Given the description of an element on the screen output the (x, y) to click on. 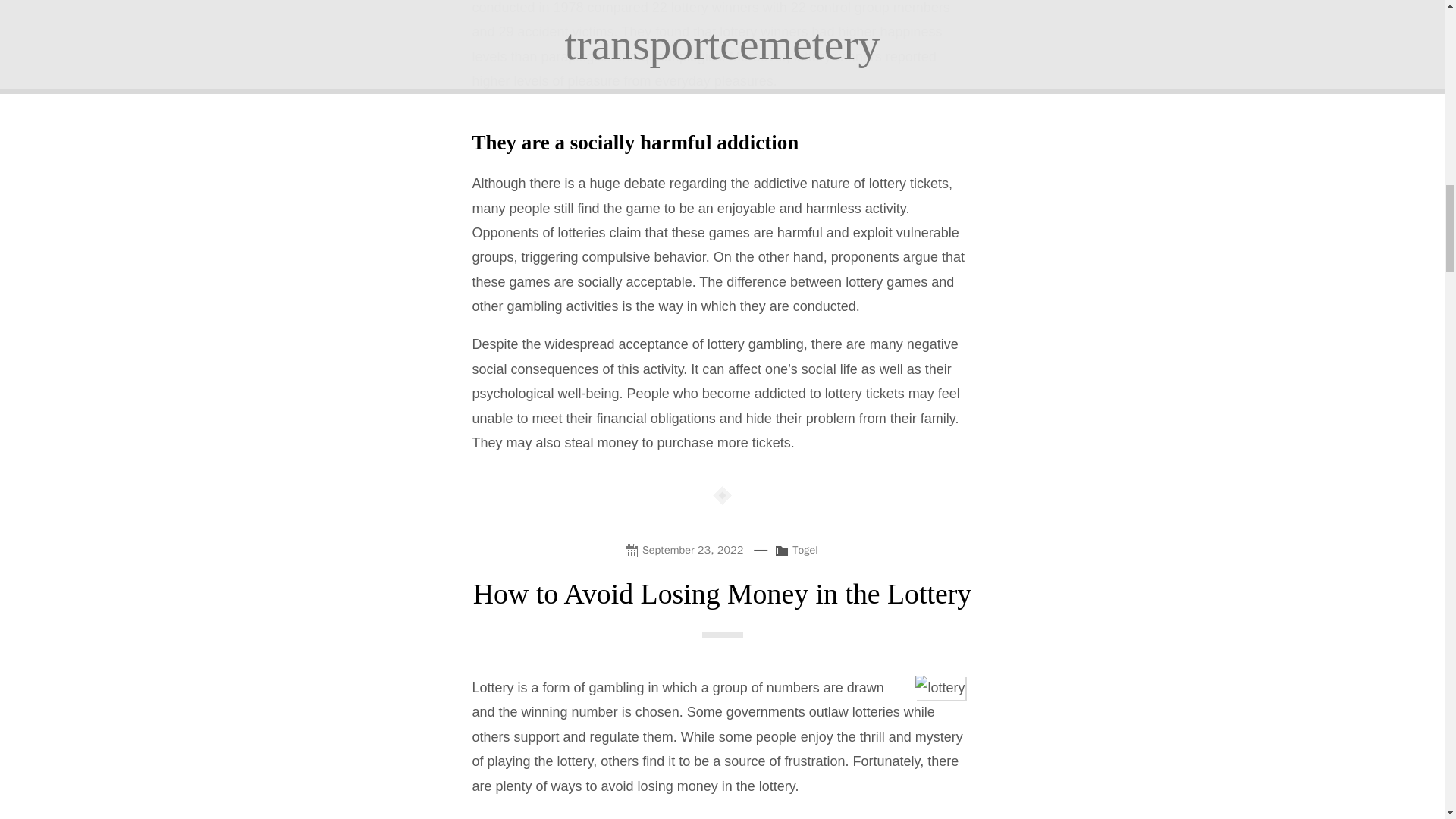
How to Avoid Losing Money in the Lottery (722, 593)
Togel (804, 549)
September 23, 2022 (686, 548)
